Given the description of an element on the screen output the (x, y) to click on. 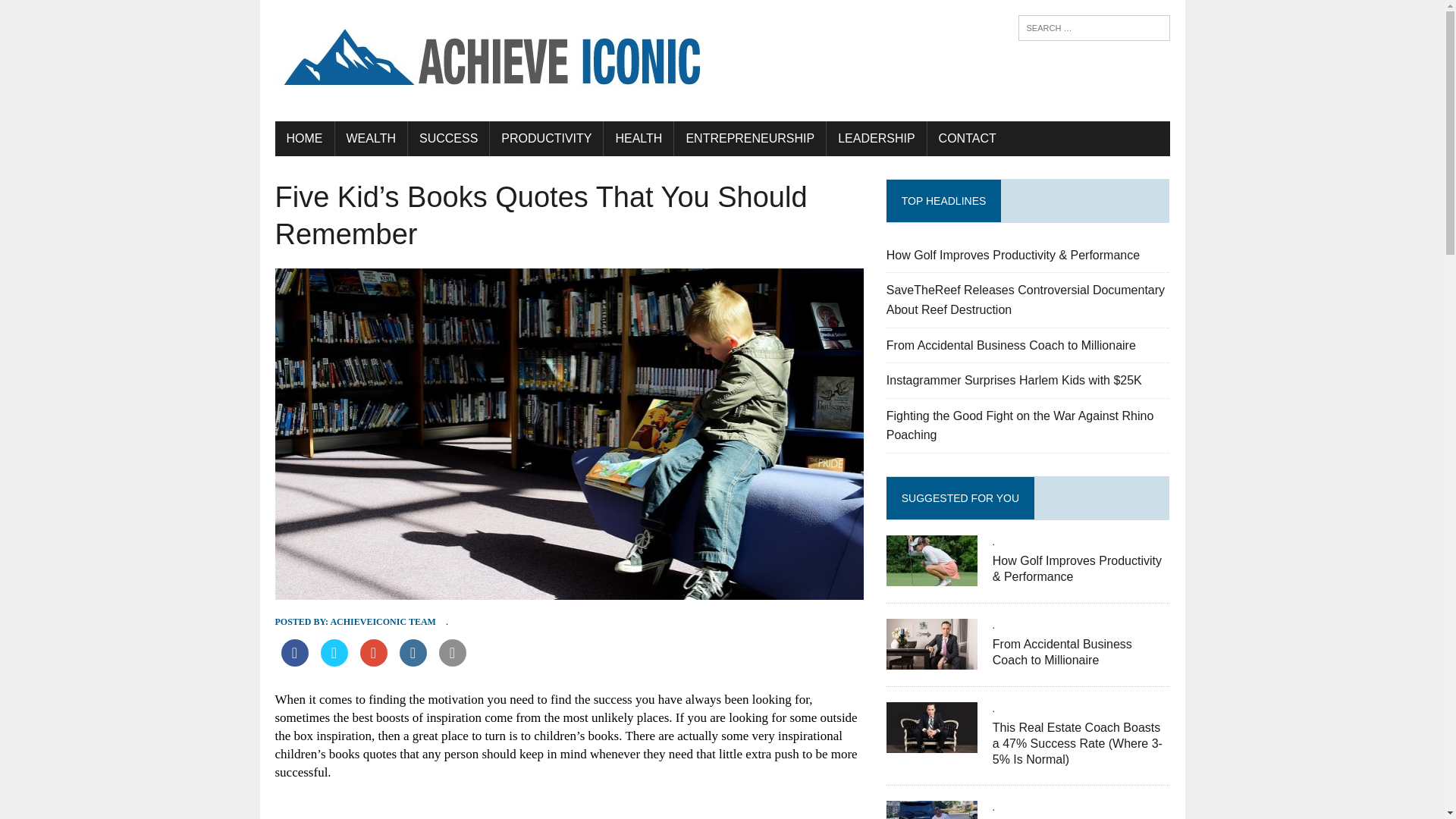
HEALTH (638, 138)
ACHIEVEICONIC TEAM (382, 621)
WEALTH (370, 138)
CONTACT (967, 138)
Achieve Iconic (722, 60)
Advertisement (569, 807)
LEADERSHIP (876, 138)
HOME (304, 138)
SUCCESS (448, 138)
Search (75, 14)
ENTREPRENEURSHIP (749, 138)
Search for: (1093, 27)
PRODUCTIVITY (545, 138)
